Given the description of an element on the screen output the (x, y) to click on. 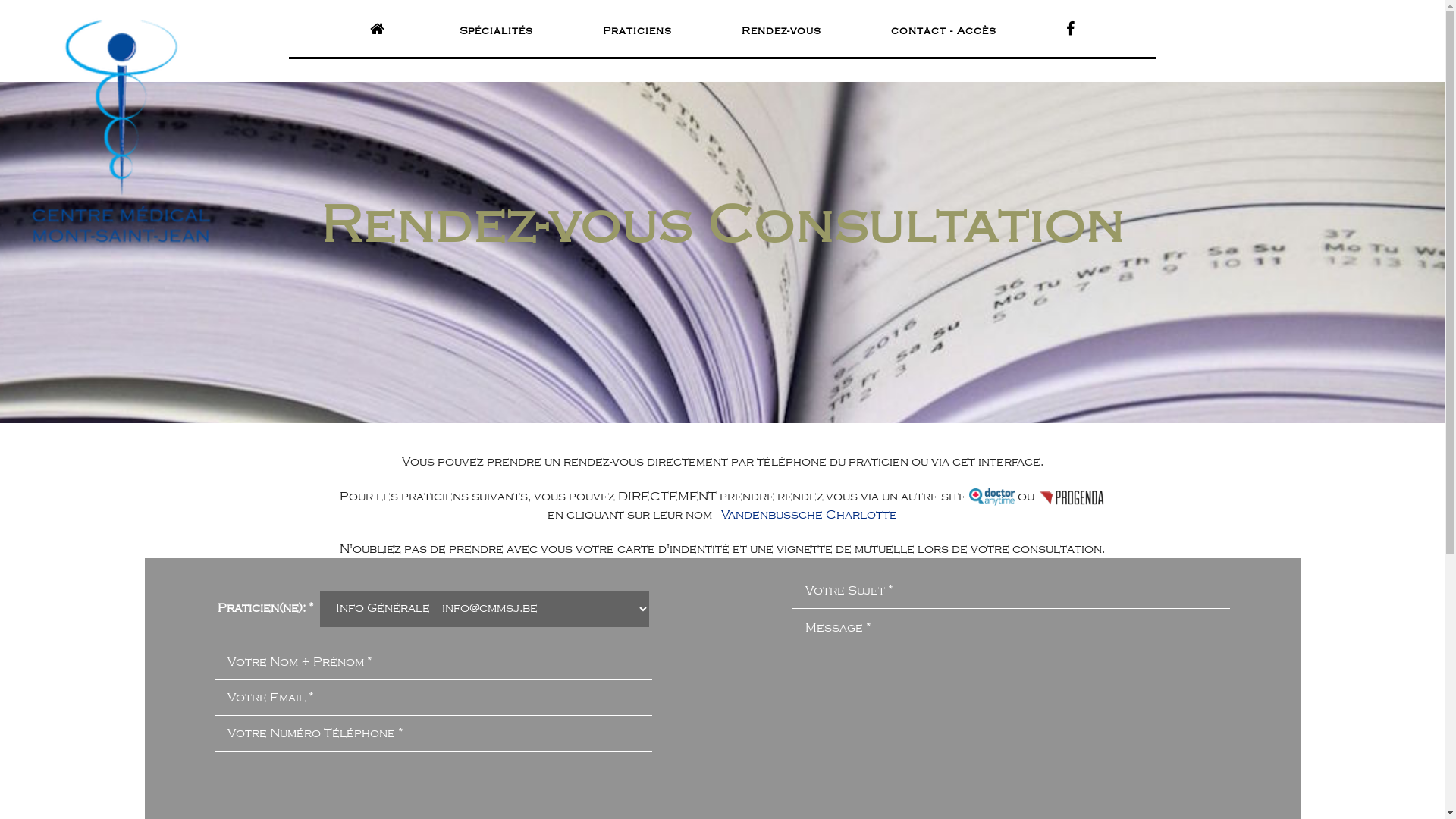
  Element type: text (1073, 29)
Vandenbussche Charlotte Element type: text (809, 514)
  Element type: text (379, 29)
Praticiens Element type: text (636, 30)
Rendez-vous Element type: text (781, 30)
